Given the description of an element on the screen output the (x, y) to click on. 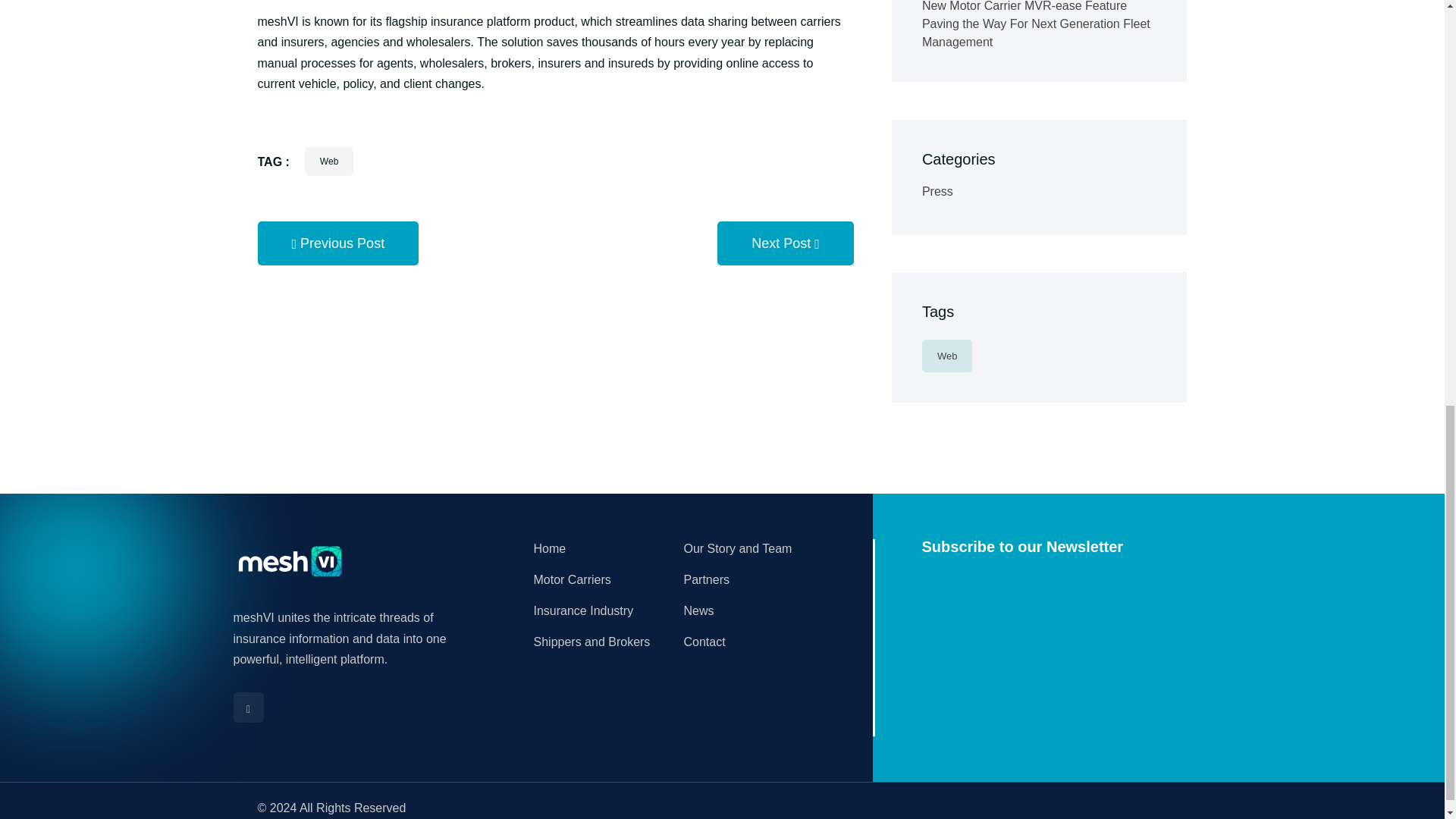
Our Story and Team (738, 548)
Motor Carriers (572, 579)
Contact (704, 641)
Web (946, 355)
Web (328, 161)
Press (937, 191)
Home (550, 548)
News (699, 610)
Insurance Industry (583, 610)
